Given the description of an element on the screen output the (x, y) to click on. 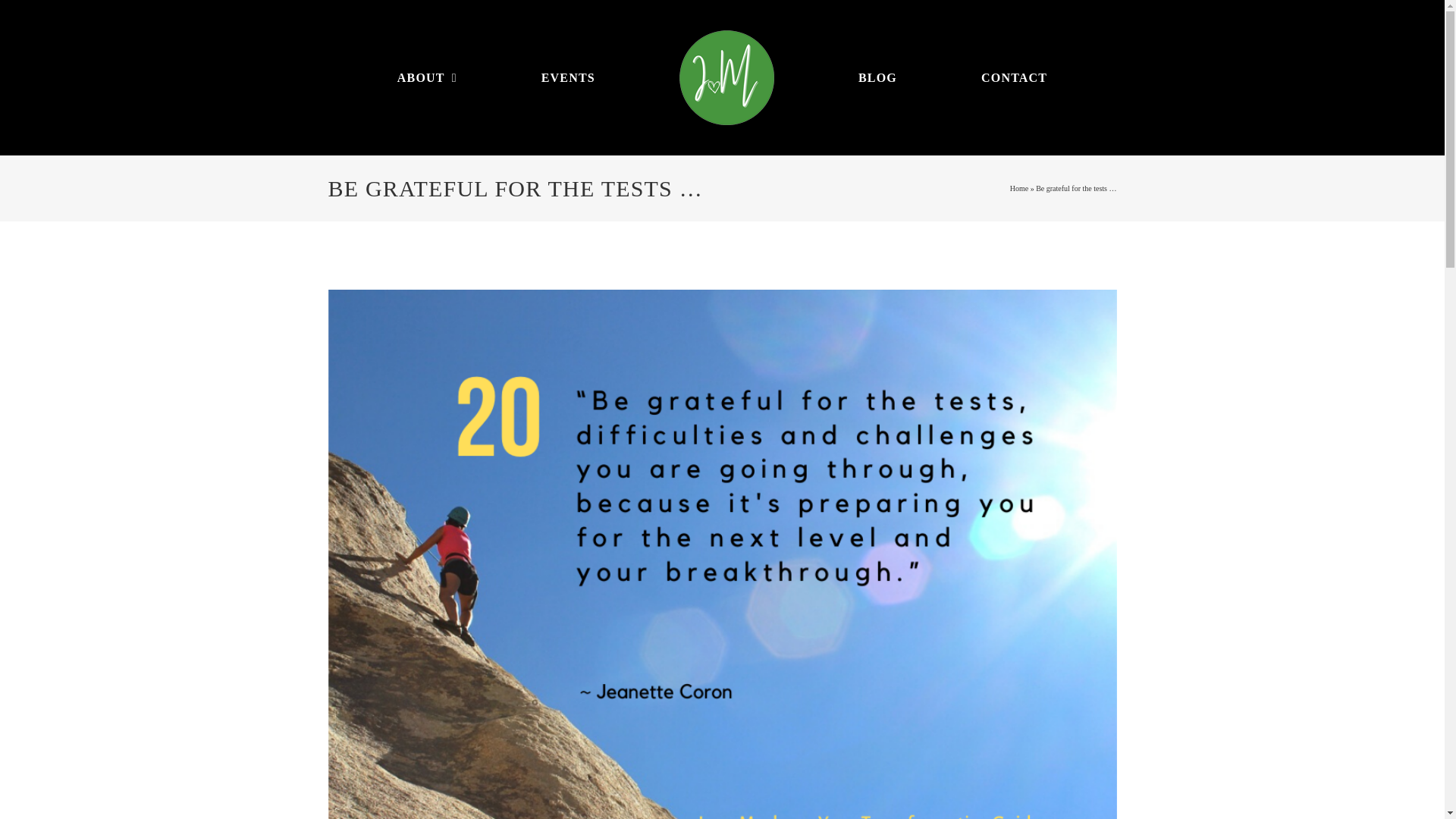
CONTACT (1013, 77)
Home (1018, 188)
EVENTS (568, 77)
ABOUT (427, 77)
